Given the description of an element on the screen output the (x, y) to click on. 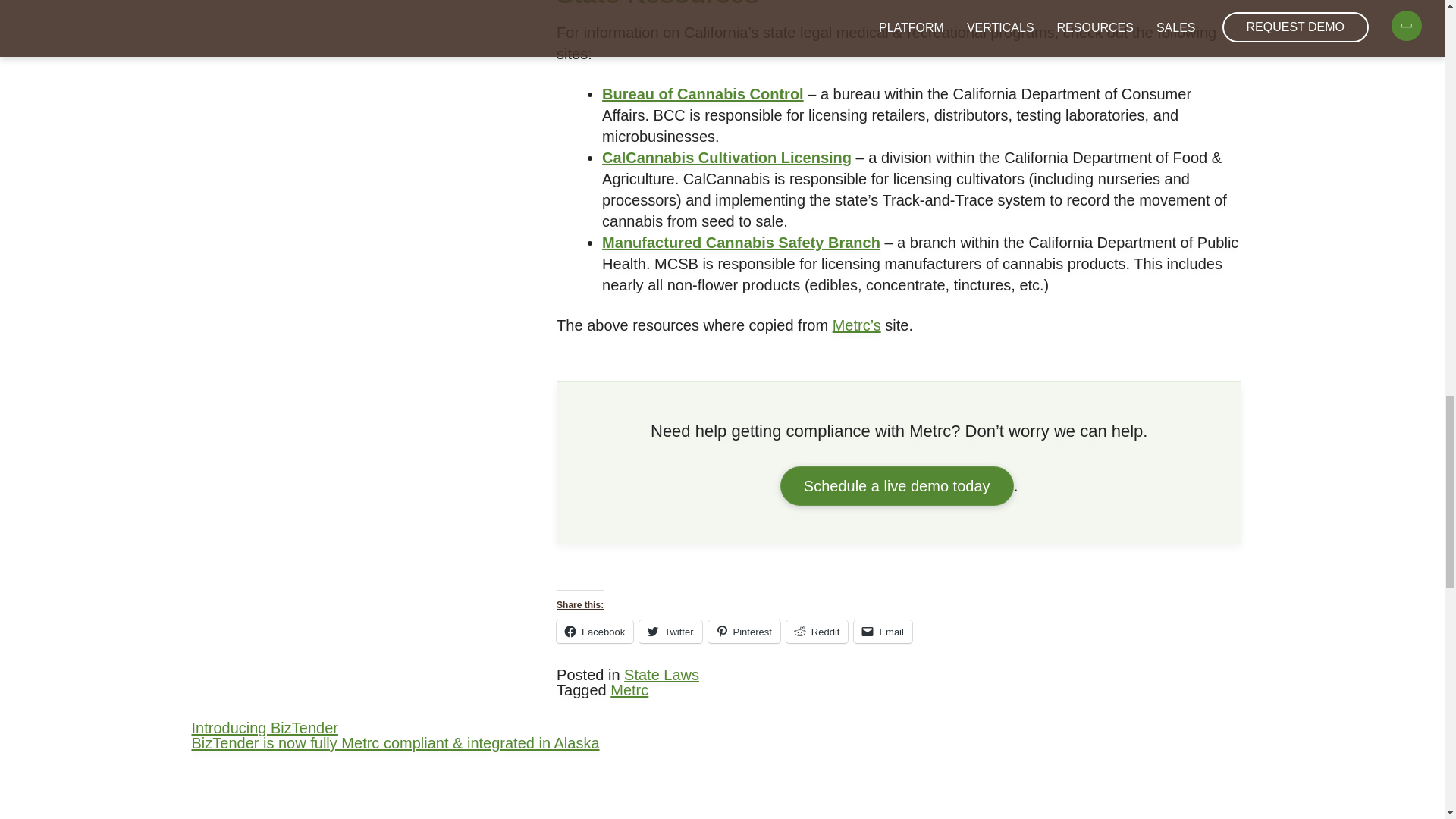
Click to share on Twitter (670, 630)
Click to email a link to a friend (882, 630)
Bureau of Cannabis Control (702, 93)
Click to share on Pinterest (743, 630)
Click to share on Facebook (594, 630)
CalCannabis Cultivation Licensing (726, 157)
Click to share on Reddit (817, 630)
Manufactured Cannabis Safety Branch (741, 242)
